Given the description of an element on the screen output the (x, y) to click on. 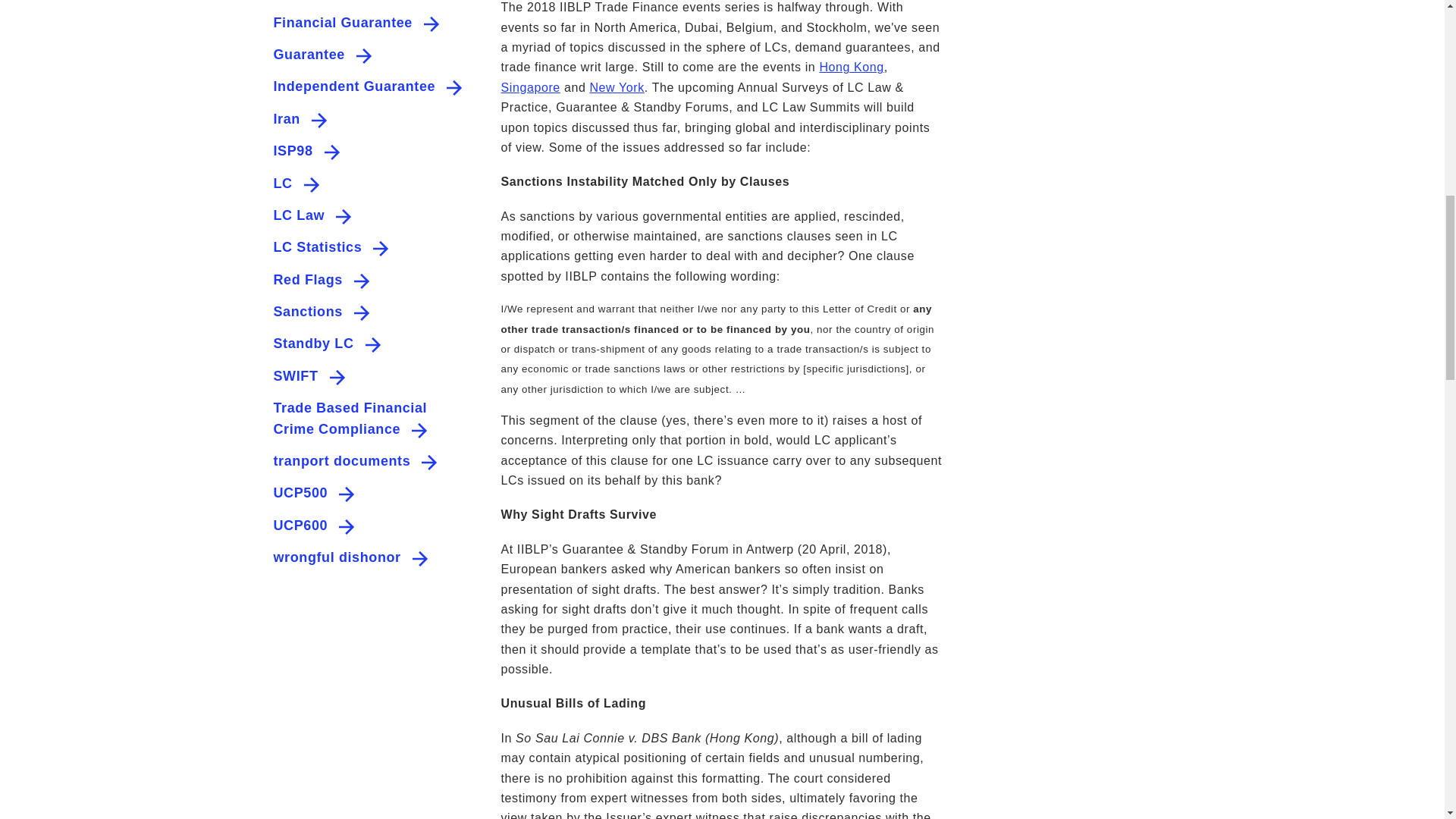
Independent Guarantee (354, 86)
ISP98 (293, 150)
LC Law (298, 215)
LC (282, 183)
Guarantee (308, 54)
Iran (286, 118)
Financial Guarantee (342, 22)
